Given the description of an element on the screen output the (x, y) to click on. 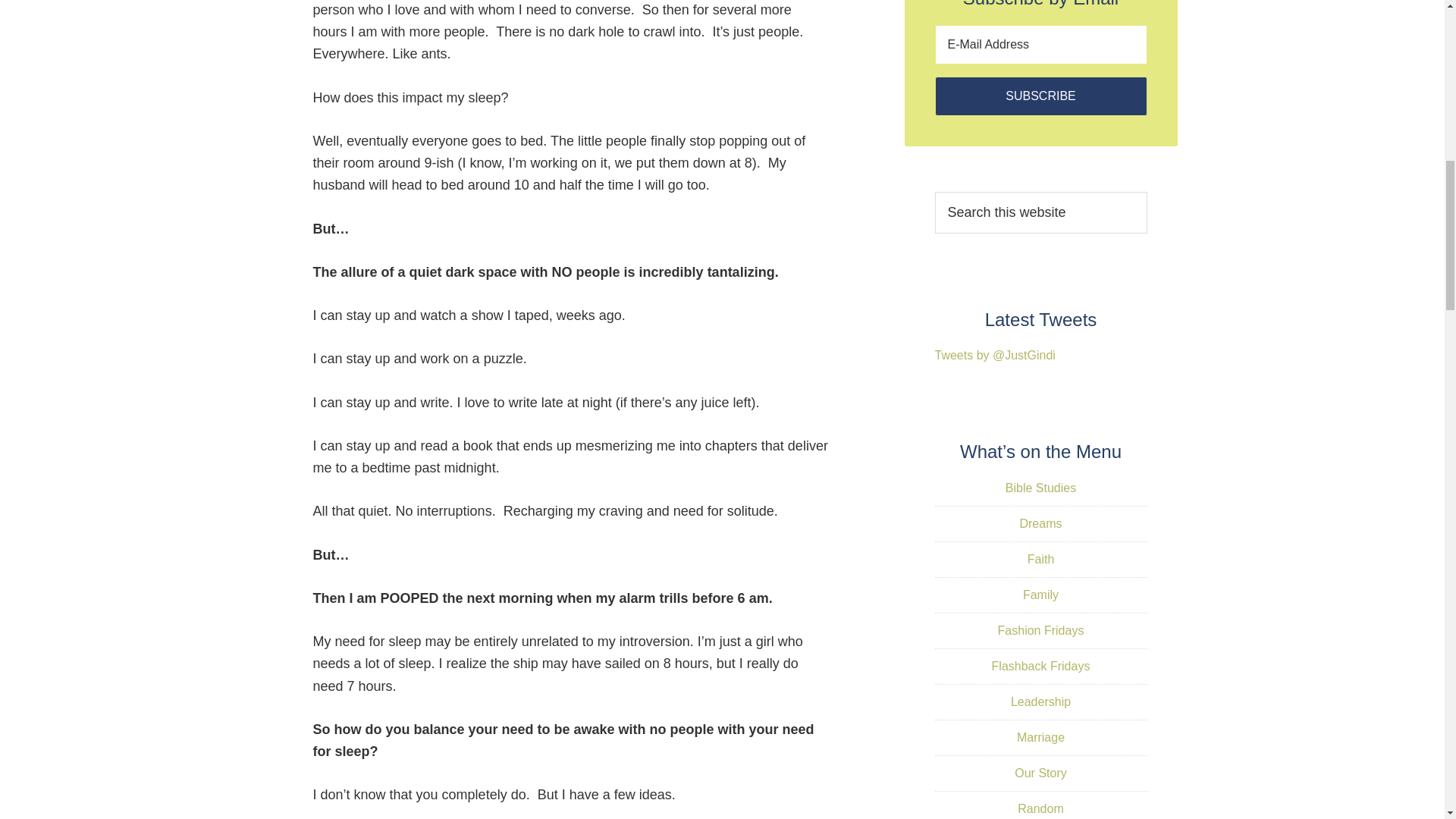
Flashback Fridays (1040, 666)
Leadership (1040, 701)
Subscribe (1040, 96)
Faith (1040, 558)
Dreams (1040, 522)
Fashion Fridays (1040, 630)
Bible Studies (1040, 487)
Marriage (1040, 737)
